Given the description of an element on the screen output the (x, y) to click on. 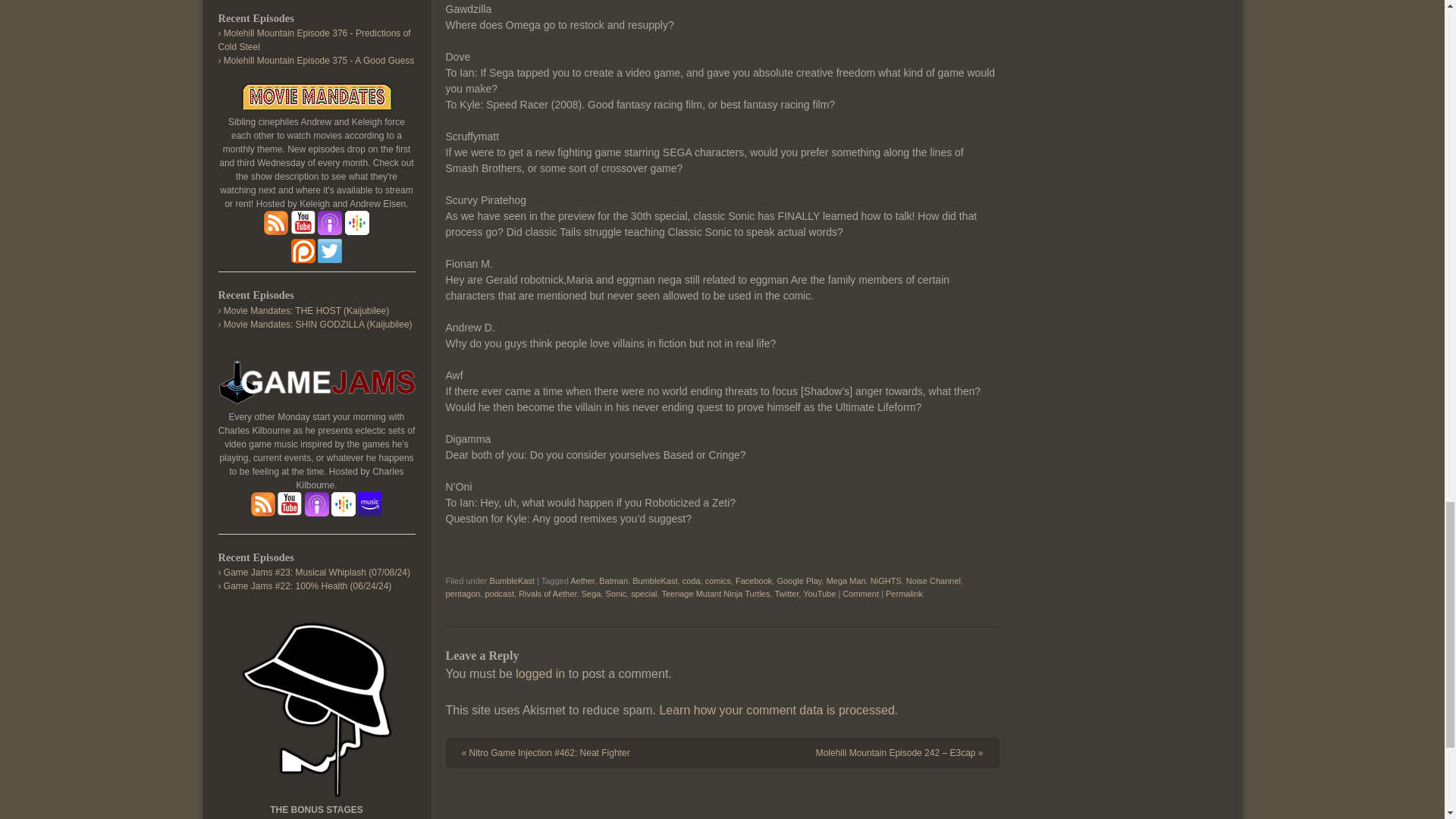
Molehill Mountain Episode 376 - Predictions of Cold Steel (314, 39)
Molehill Mountain Episode 375 - A Good Guess (318, 60)
